Given the description of an element on the screen output the (x, y) to click on. 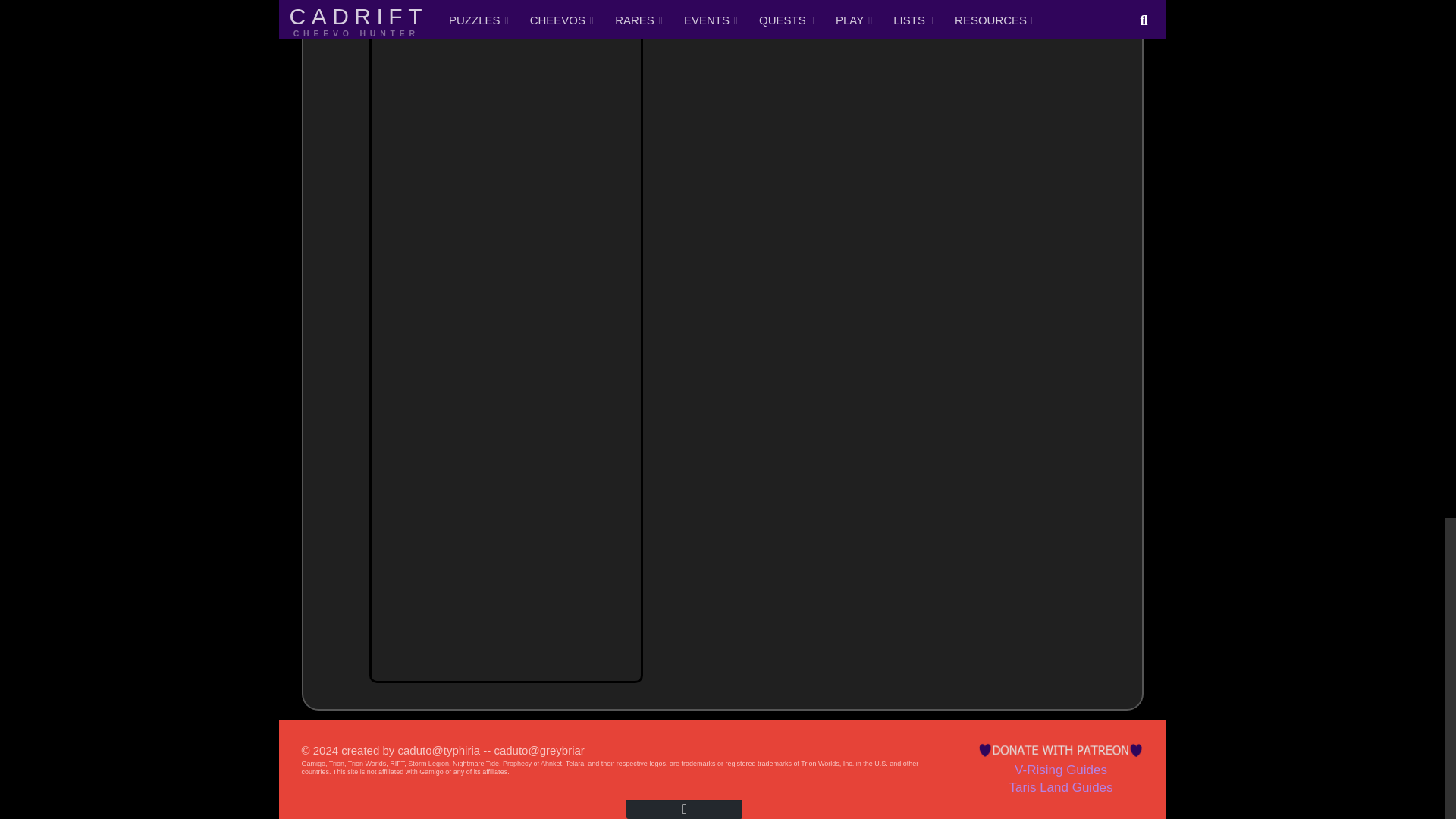
Support Cadrift on Patreon (1060, 749)
